Given the description of an element on the screen output the (x, y) to click on. 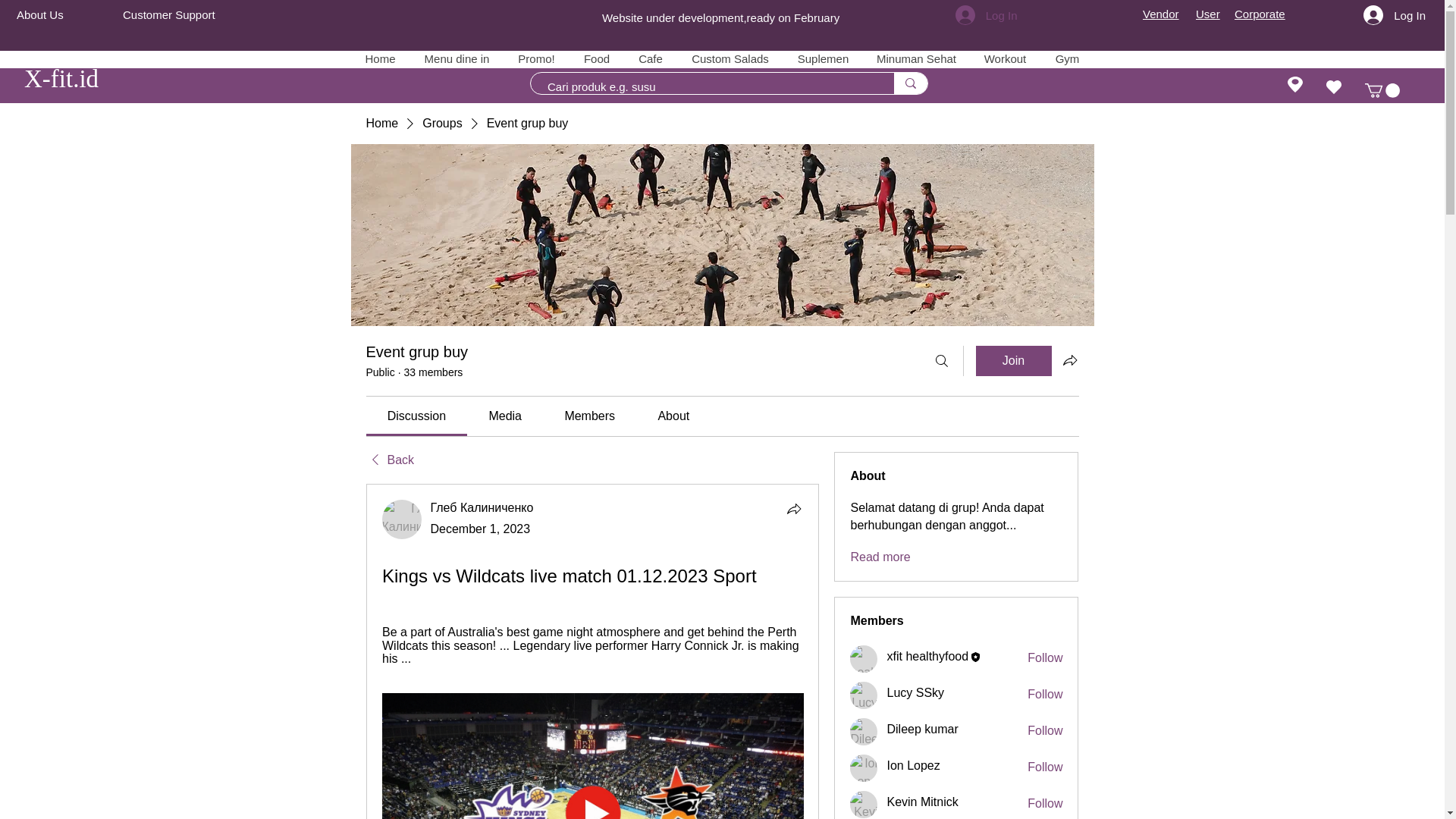
Home (379, 58)
Cafe (650, 58)
Kevin Mitnick (922, 801)
Dileep kumar (863, 731)
User (1207, 13)
Corporate (1259, 13)
Log In (1393, 14)
xfit healthyfood (863, 658)
Vendor (1160, 13)
Menu dine in (455, 58)
